Given the description of an element on the screen output the (x, y) to click on. 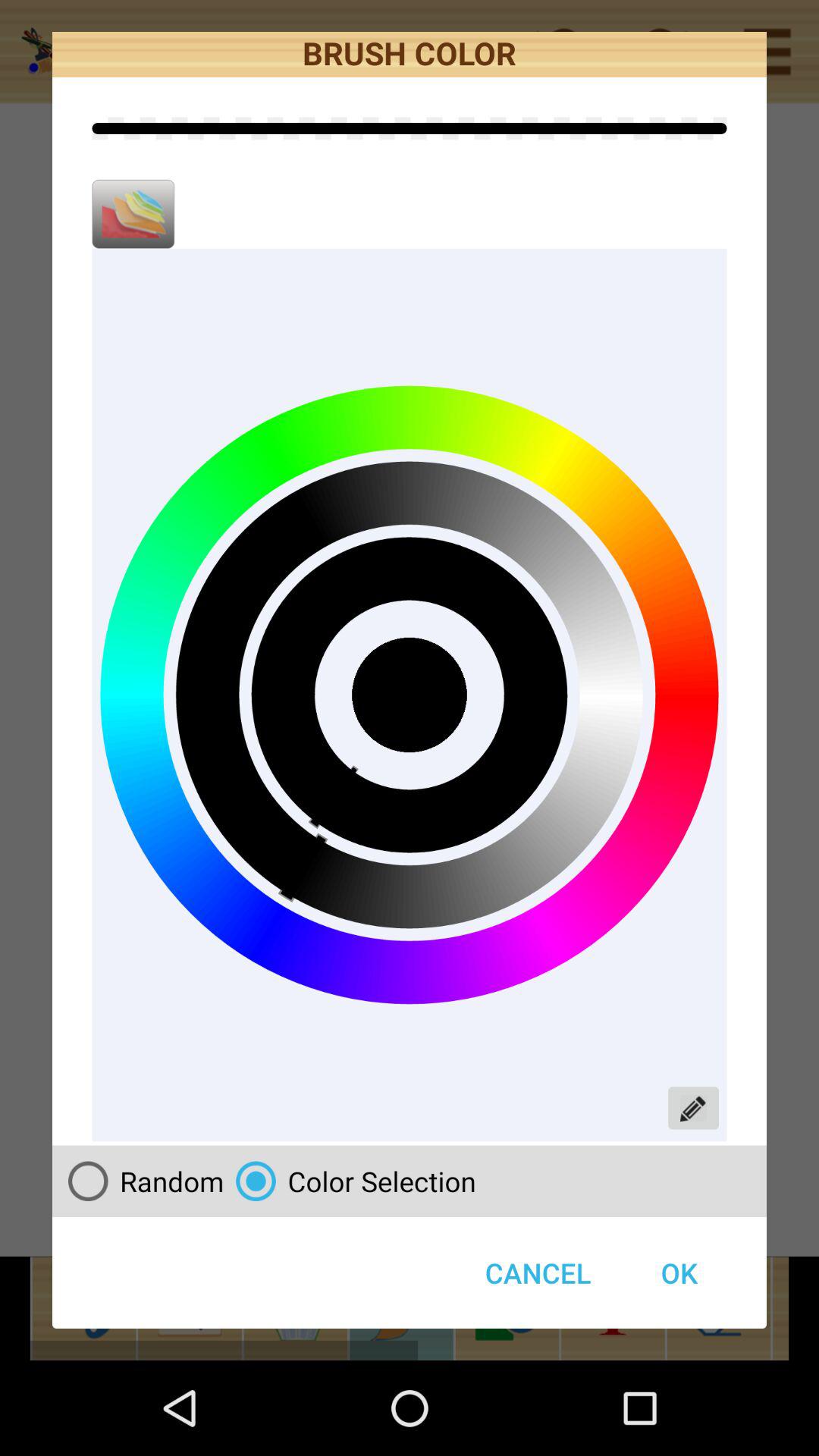
press the icon next to the random radio button (538, 1272)
